Given the description of an element on the screen output the (x, y) to click on. 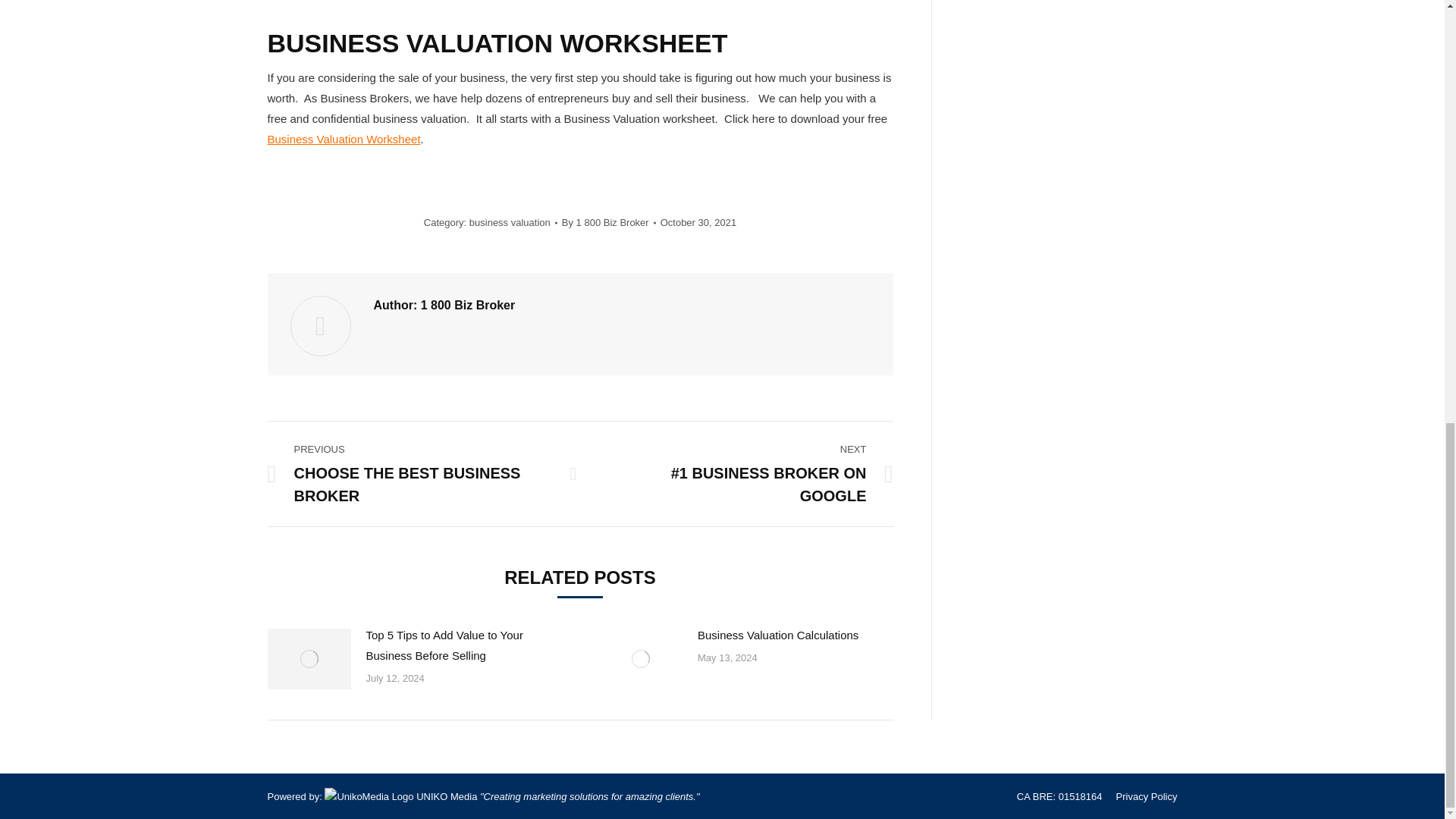
View all posts by 1 800 Biz Broker (609, 221)
8:53 pm (698, 221)
YouTube video player (478, 6)
